Given the description of an element on the screen output the (x, y) to click on. 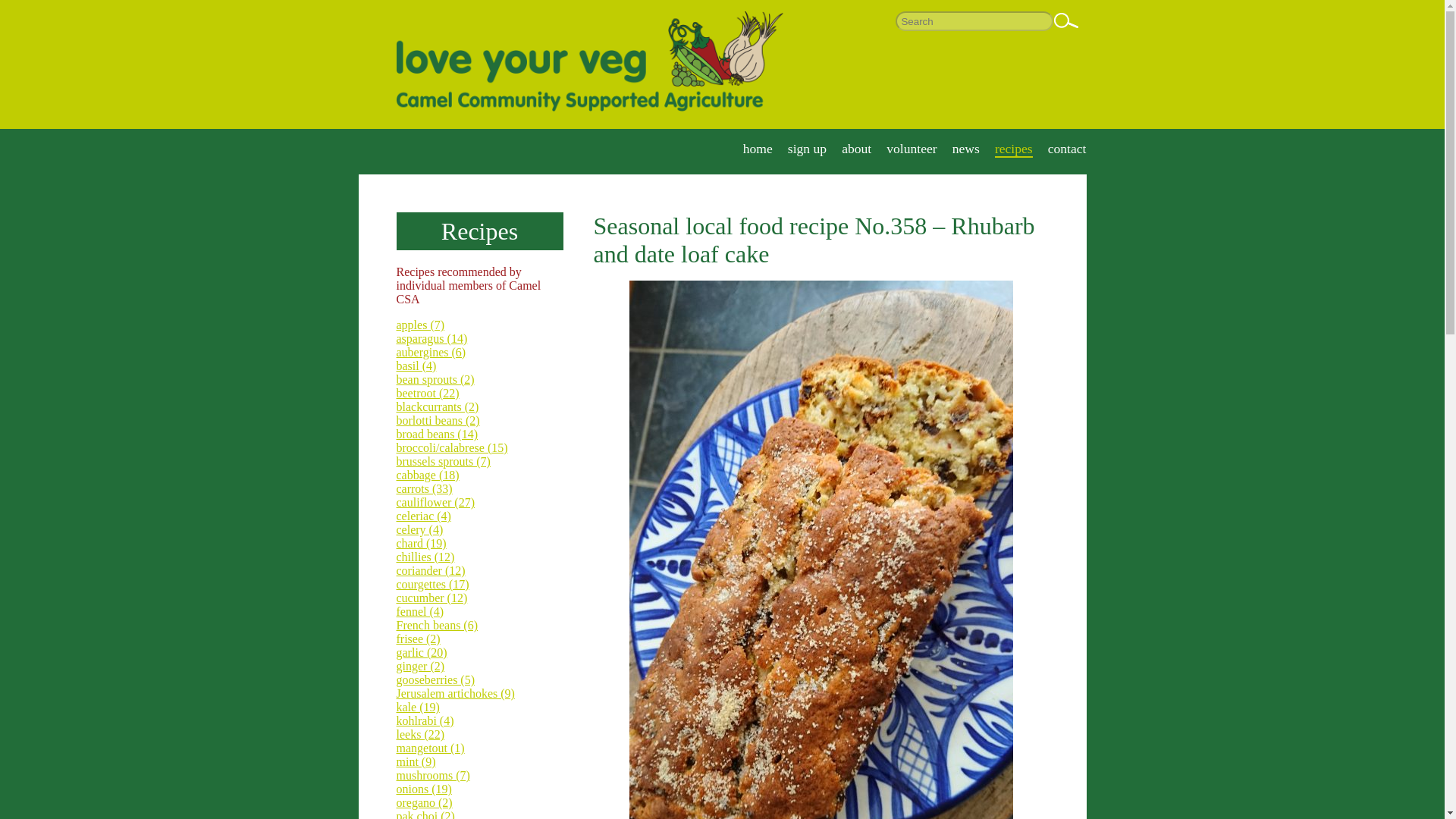
coriander (430, 570)
chard (420, 543)
carrots (423, 488)
apples (420, 324)
volunteer (911, 148)
cauliflower (435, 502)
contact (1067, 148)
chillies (425, 556)
aubergines (430, 351)
celeriac (422, 515)
sign up (807, 148)
bean sprouts (435, 379)
about (855, 148)
Recipes (479, 230)
brussels sprouts (442, 461)
